Given the description of an element on the screen output the (x, y) to click on. 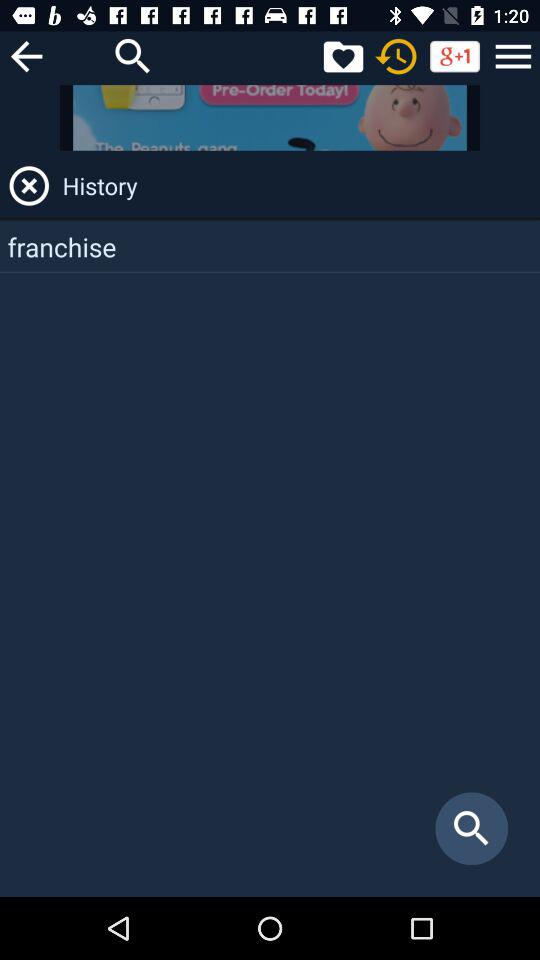
exit search box (29, 185)
